Given the description of an element on the screen output the (x, y) to click on. 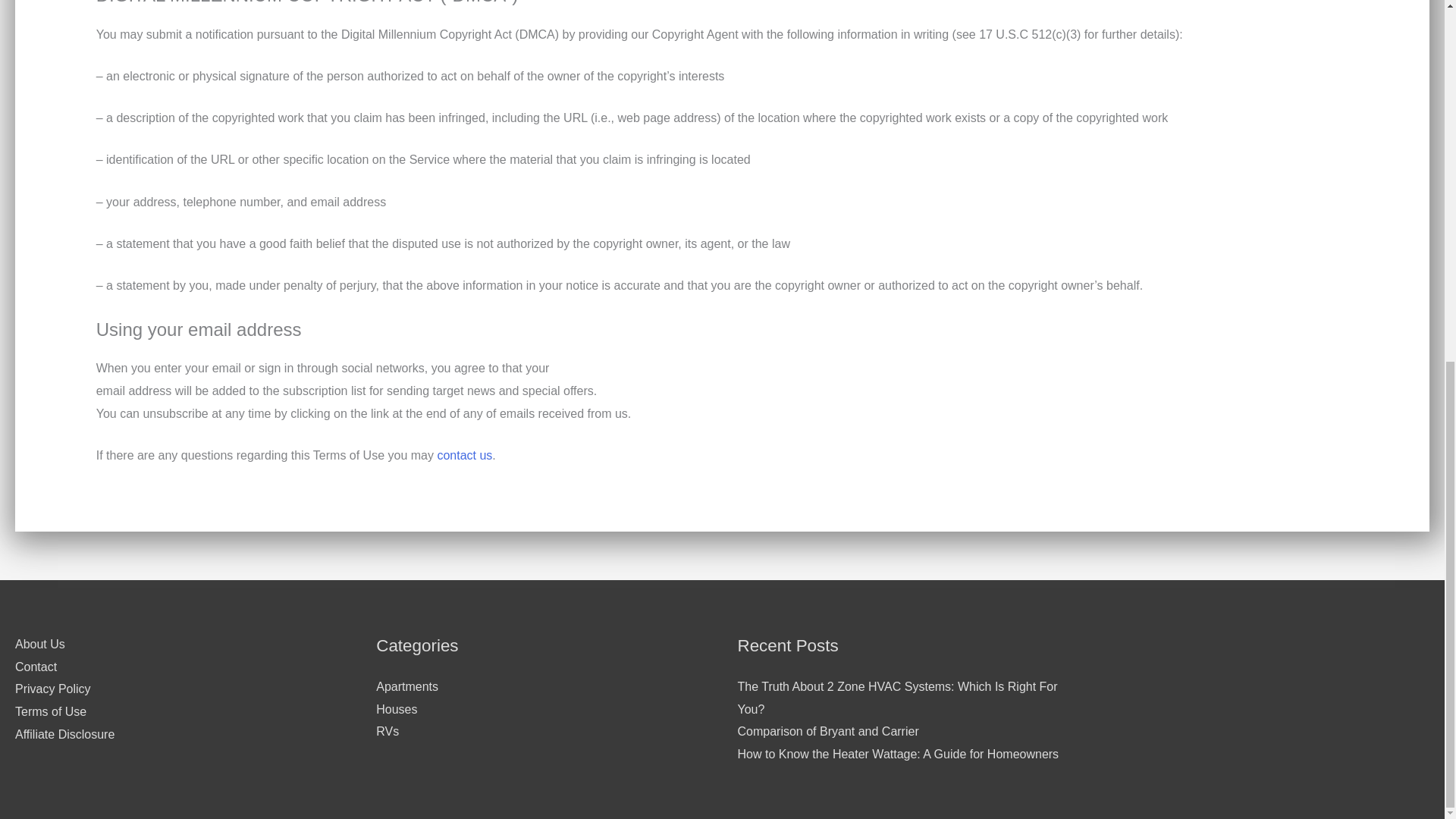
DMCA.com Protection Status (1383, 649)
The Truth About 2 Zone HVAC Systems: Which Is Right For You? (896, 697)
Terms of Use (49, 711)
Affiliate Disclosure (64, 734)
About Us (39, 644)
Privacy Policy (52, 688)
contact us (464, 454)
Apartments (406, 686)
How to Know the Heater Wattage: A Guide for Homeowners (897, 753)
Contact (35, 666)
Comparison of Bryant and Carrier (827, 730)
Houses (395, 708)
RVs (386, 730)
